Given the description of an element on the screen output the (x, y) to click on. 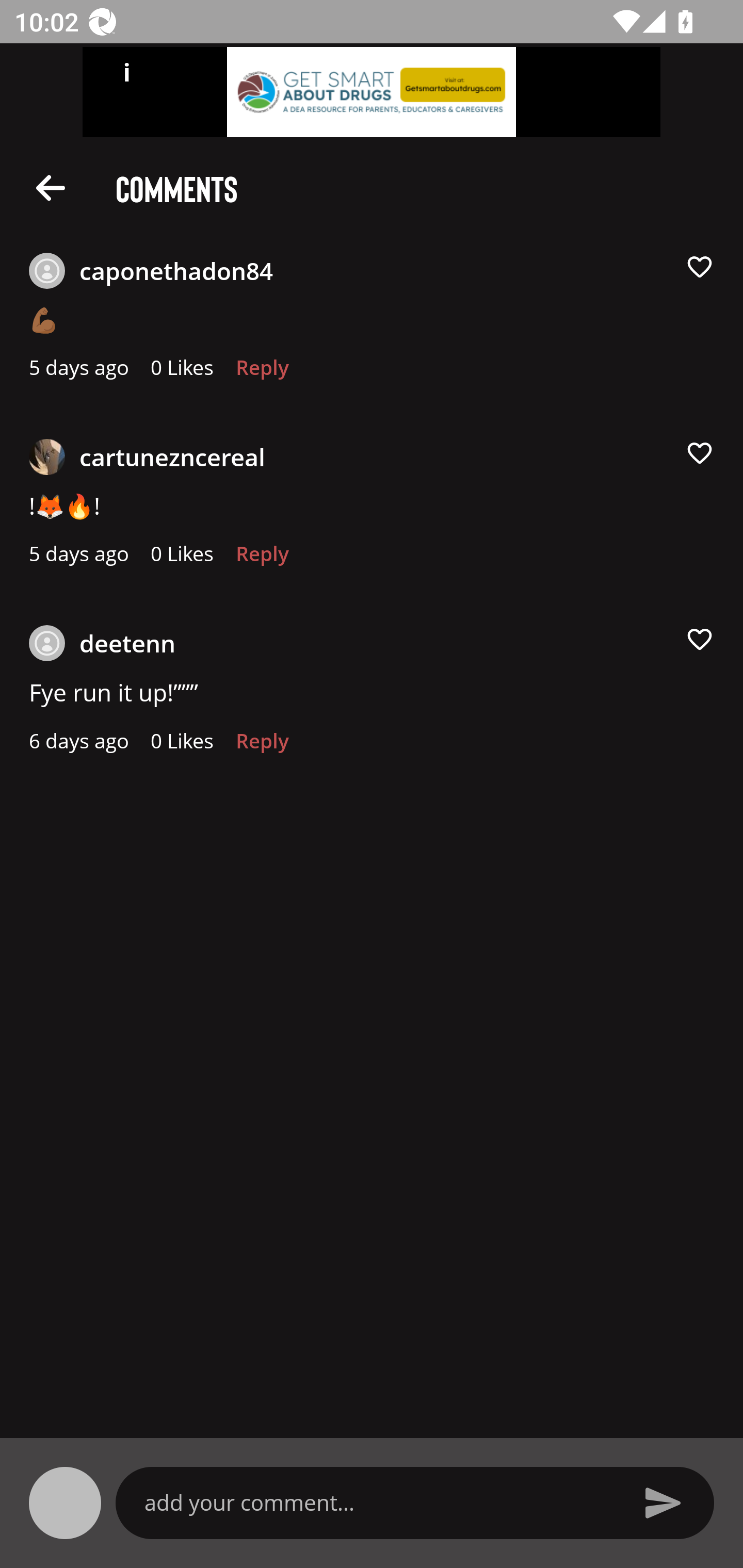
Description (50, 187)
Reply (261, 372)
Reply (261, 558)
Reply (261, 746)
add your comment… (378, 1502)
